Given the description of an element on the screen output the (x, y) to click on. 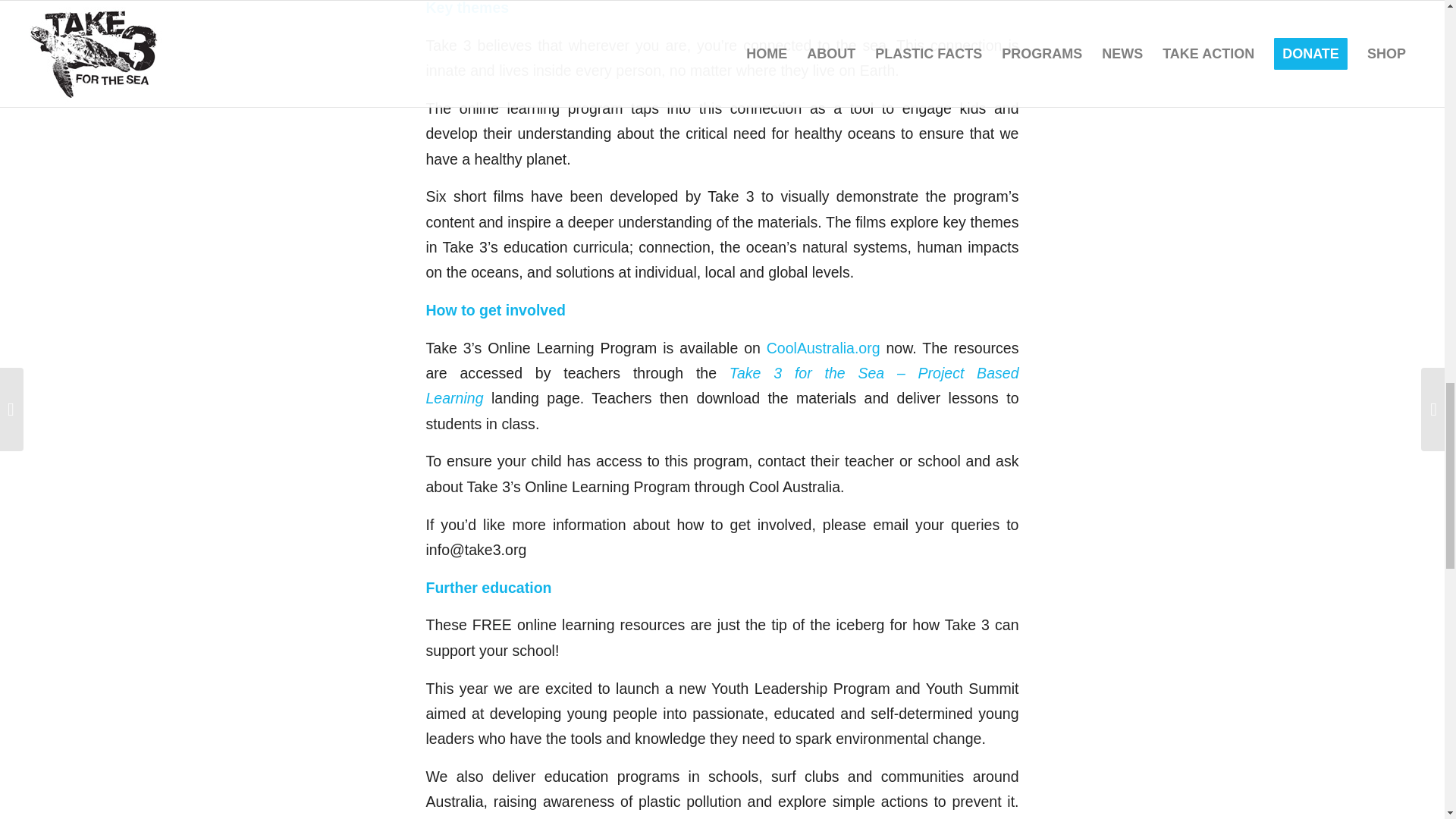
CoolAustralia.org (823, 347)
